Given the description of an element on the screen output the (x, y) to click on. 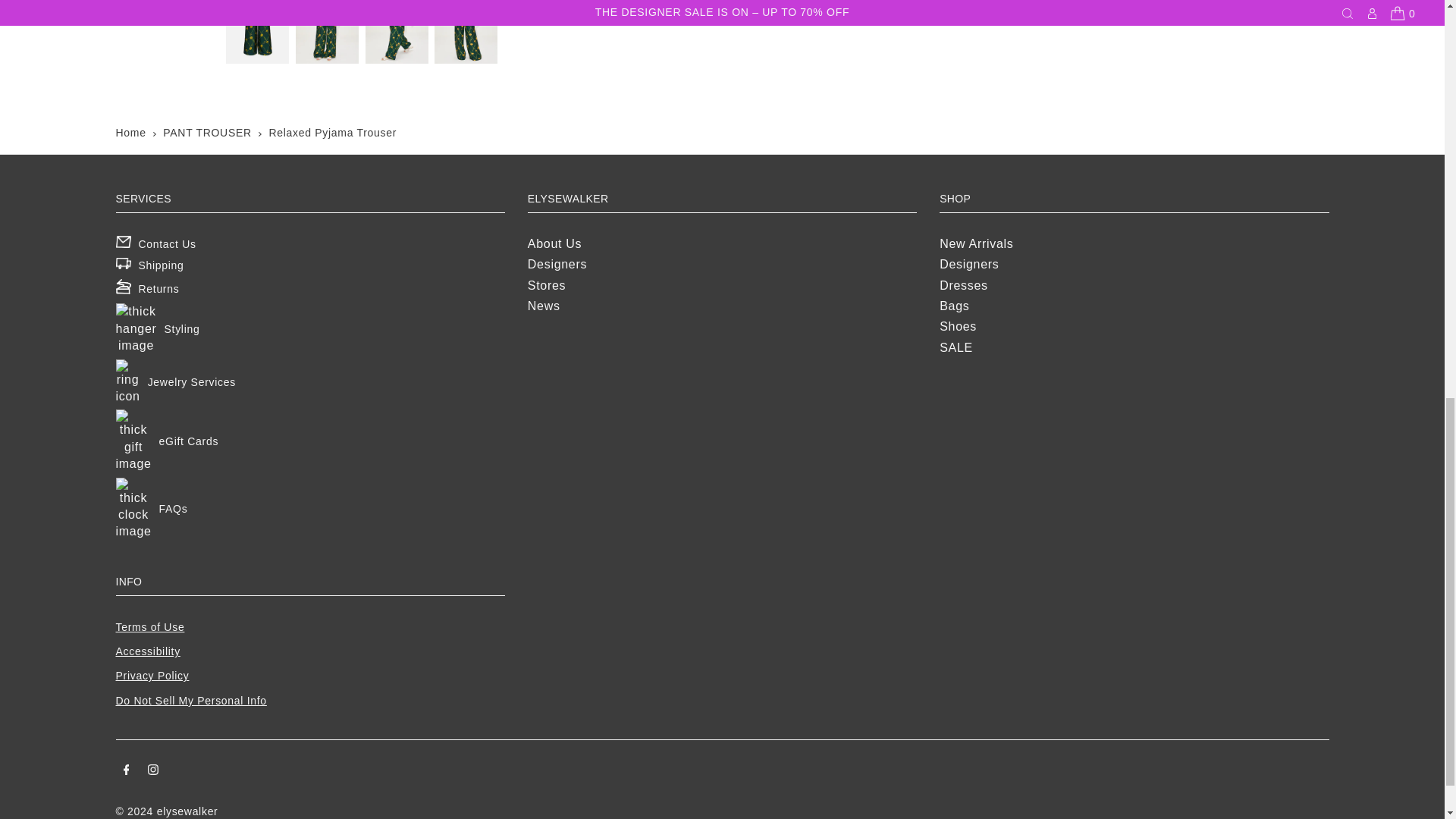
Terms Of Use (149, 626)
Accessibility Statement (147, 651)
PANT TROUSER (207, 132)
Home (130, 132)
